Given the description of an element on the screen output the (x, y) to click on. 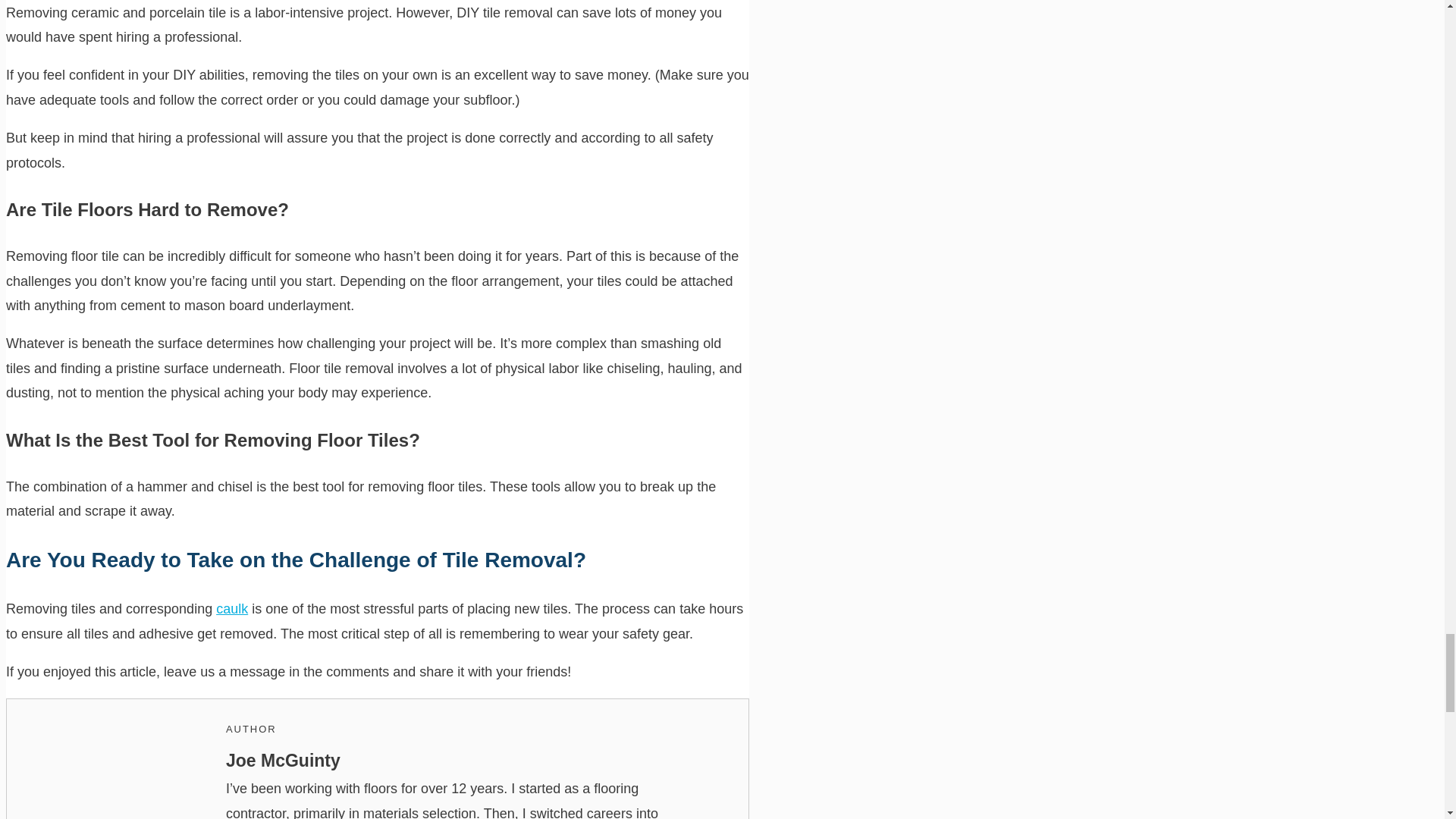
caulk (231, 608)
